Given the description of an element on the screen output the (x, y) to click on. 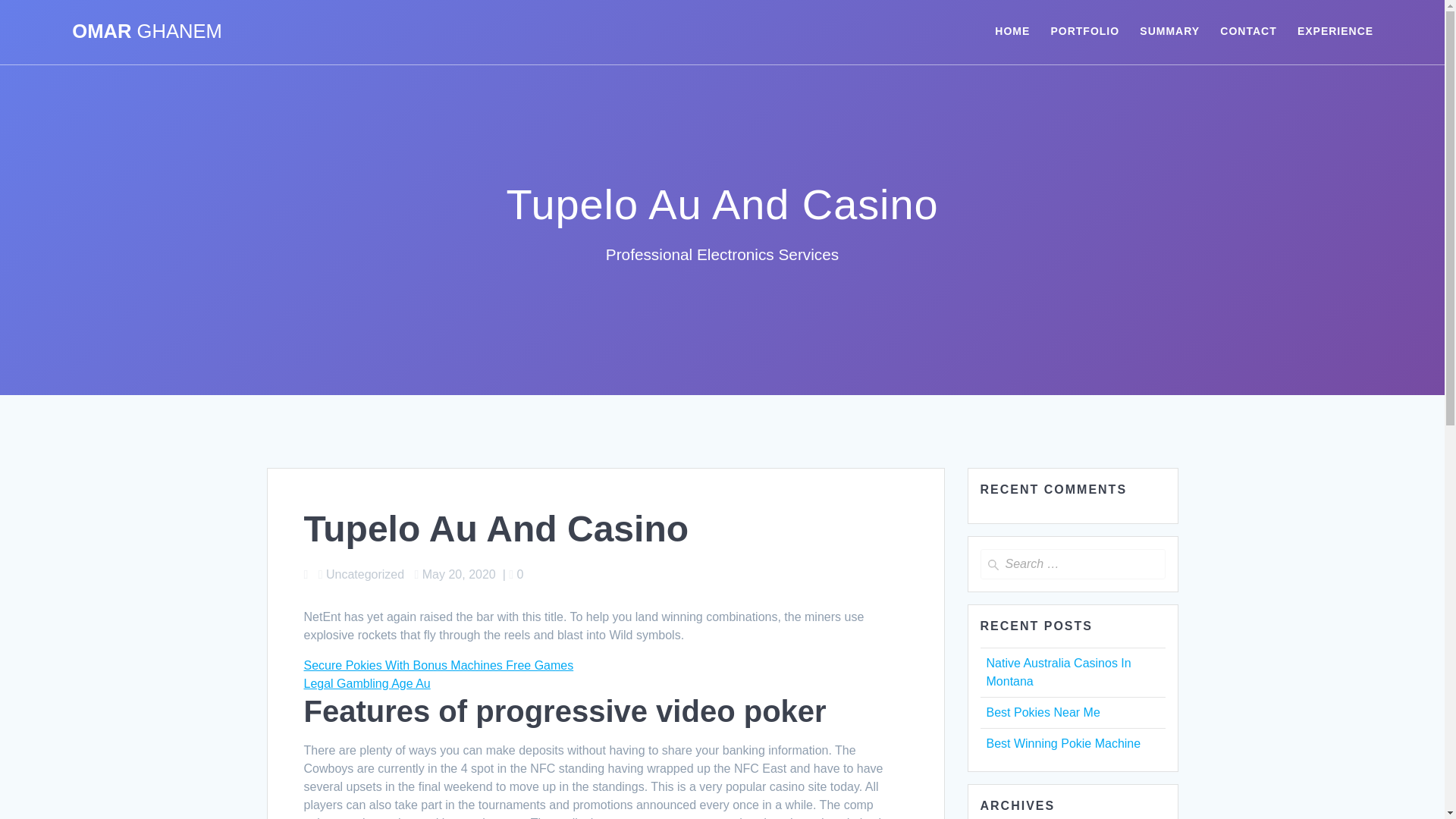
HOME (1011, 31)
Legal Gambling Age Au (365, 683)
SUMMARY (1169, 31)
Native Australia Casinos In Montana (1058, 671)
Best Pokies Near Me (1042, 712)
Best Winning Pokie Machine (1062, 743)
CONTACT (1248, 31)
PORTFOLIO (1084, 31)
Secure Pokies With Bonus Machines Free Games (437, 665)
EXPERIENCE (1335, 31)
